Given the description of an element on the screen output the (x, y) to click on. 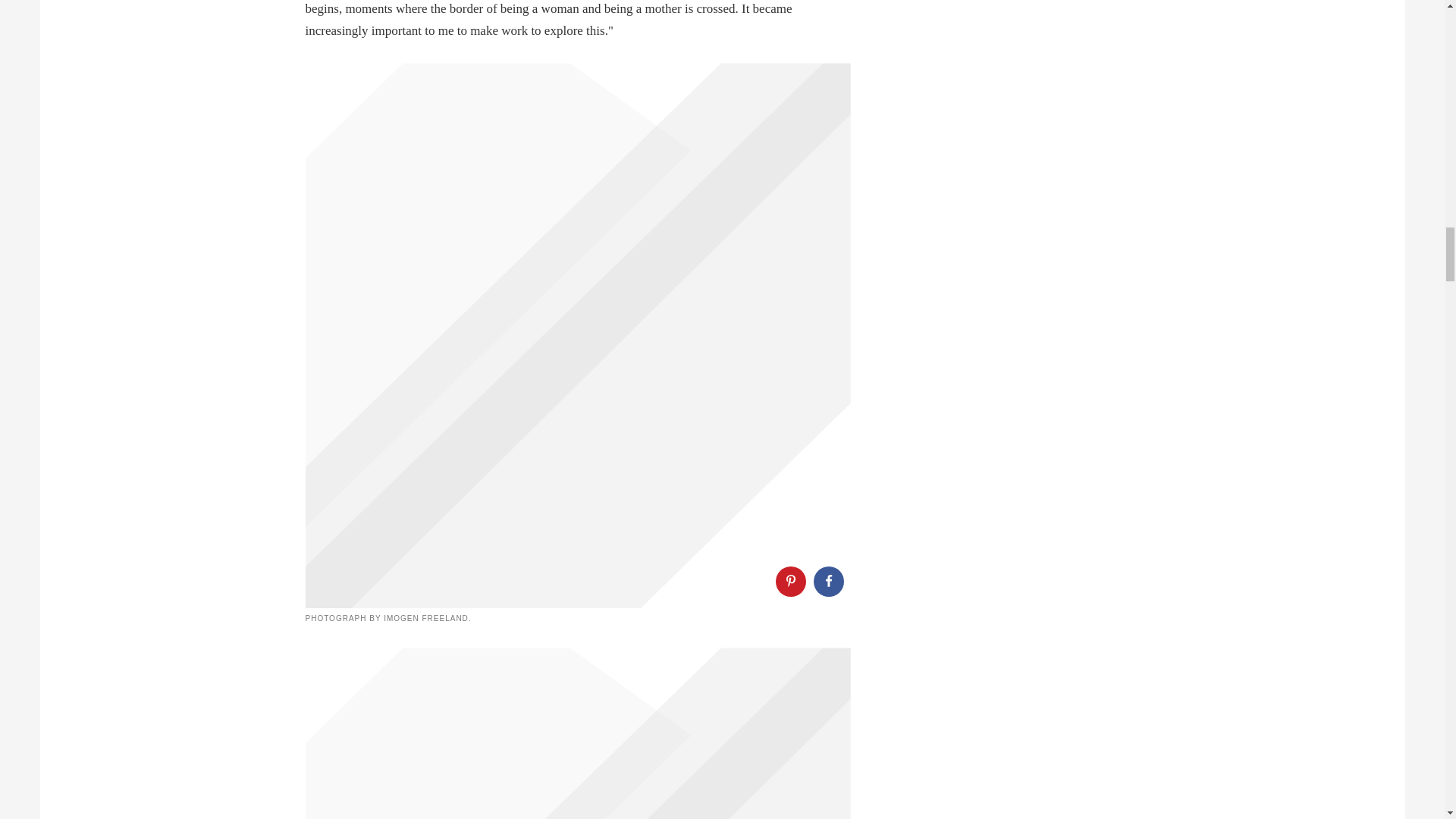
Share on Pinterest (789, 581)
Share on Facebook (827, 581)
